Given the description of an element on the screen output the (x, y) to click on. 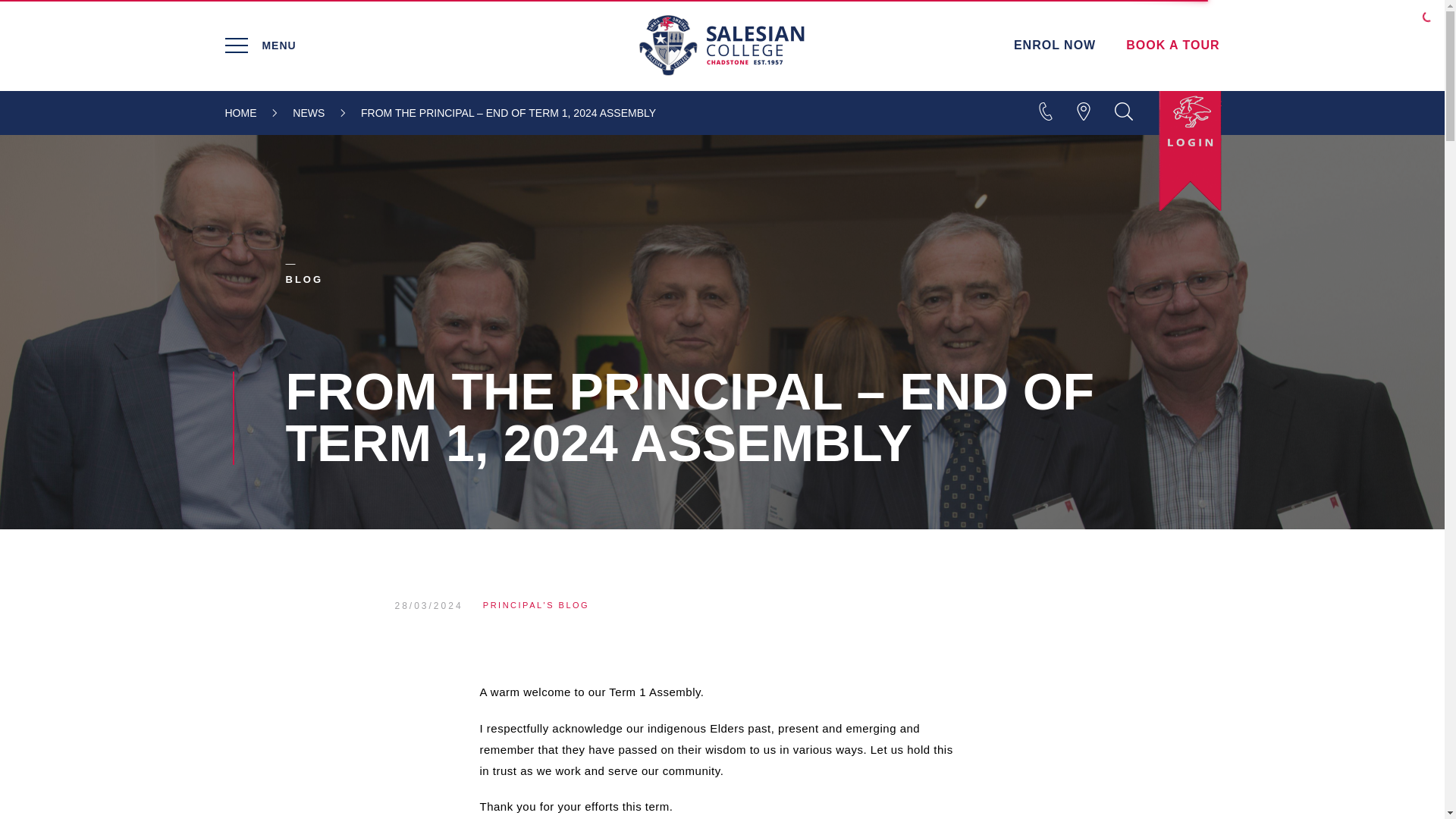
ENROL NOW (1054, 45)
MENU (390, 45)
BOOK A TOUR (1172, 45)
03 9807 2644 (1010, 111)
